Given the description of an element on the screen output the (x, y) to click on. 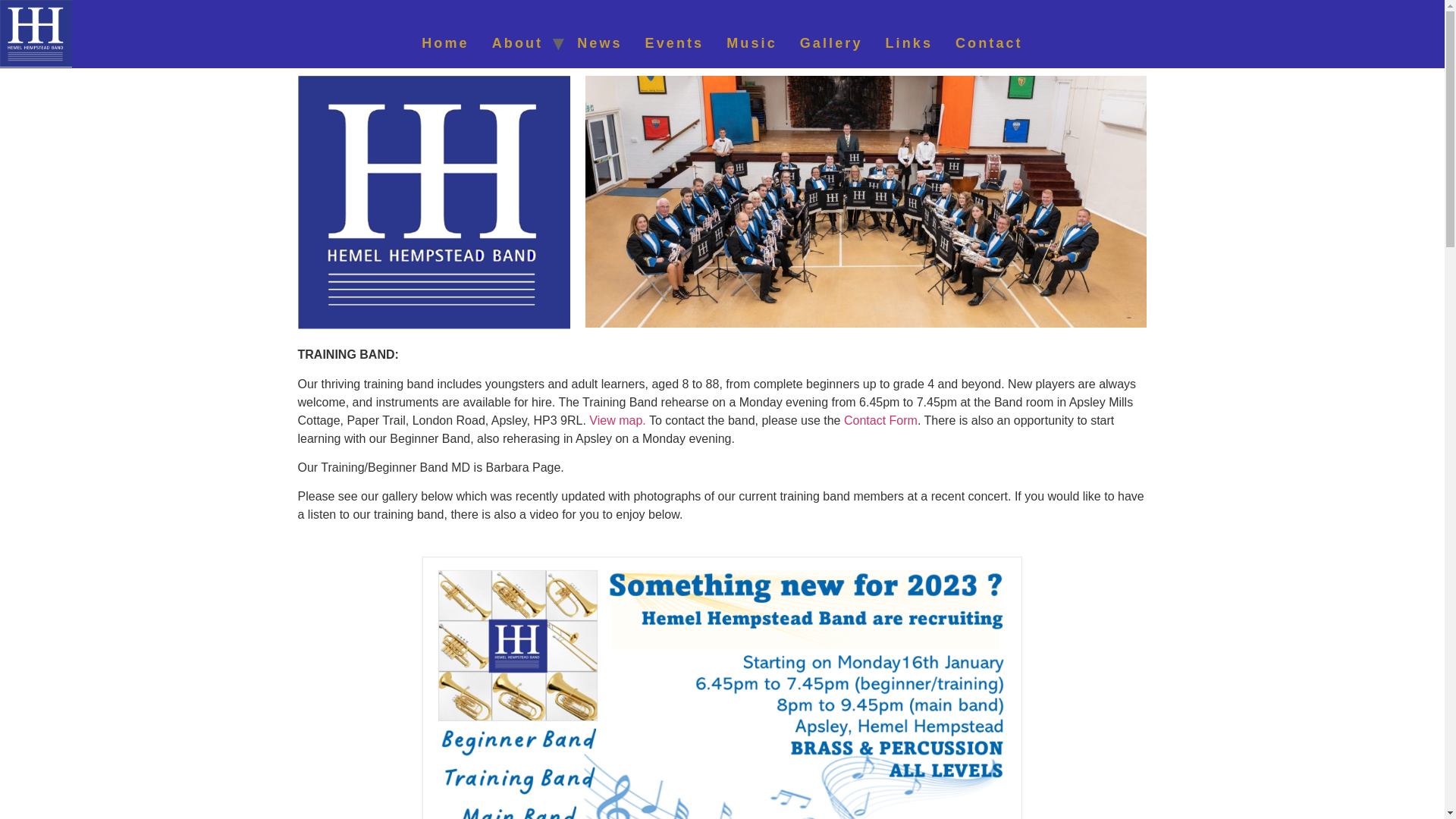
About (517, 43)
Events (674, 43)
Contact (988, 43)
News (599, 43)
Music (751, 43)
Gallery (832, 43)
View map. (617, 420)
Contact Form (880, 420)
Home (445, 43)
Links (908, 43)
